Given the description of an element on the screen output the (x, y) to click on. 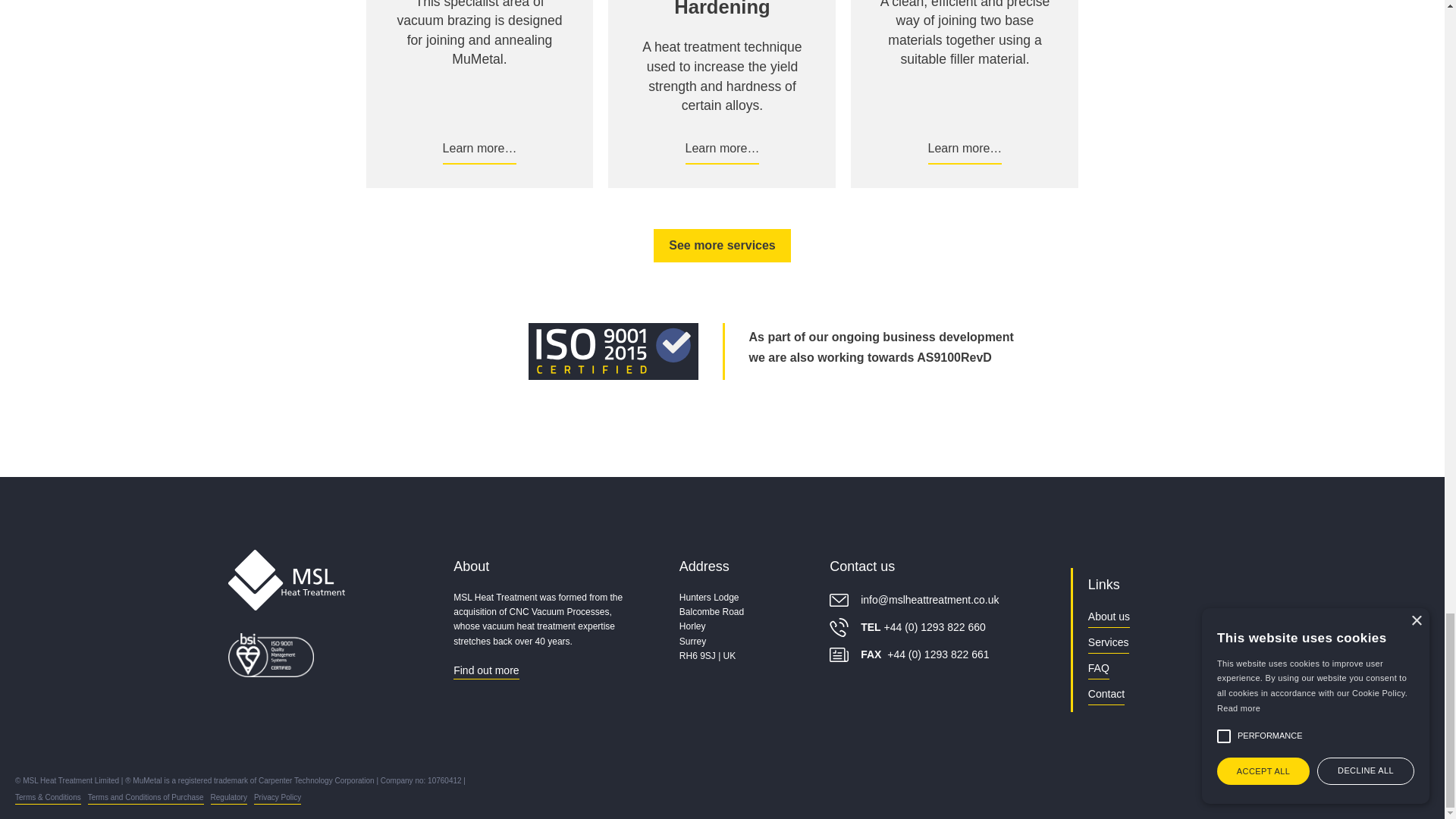
Contact (1105, 695)
See more services (721, 245)
About us (1108, 618)
Services (1108, 643)
Find out more (485, 671)
Web Design Surrey (1389, 781)
Privacy Policy (277, 798)
FAQ (1098, 669)
Regulatory (229, 798)
Terms and Conditions of Purchase (145, 798)
